Given the description of an element on the screen output the (x, y) to click on. 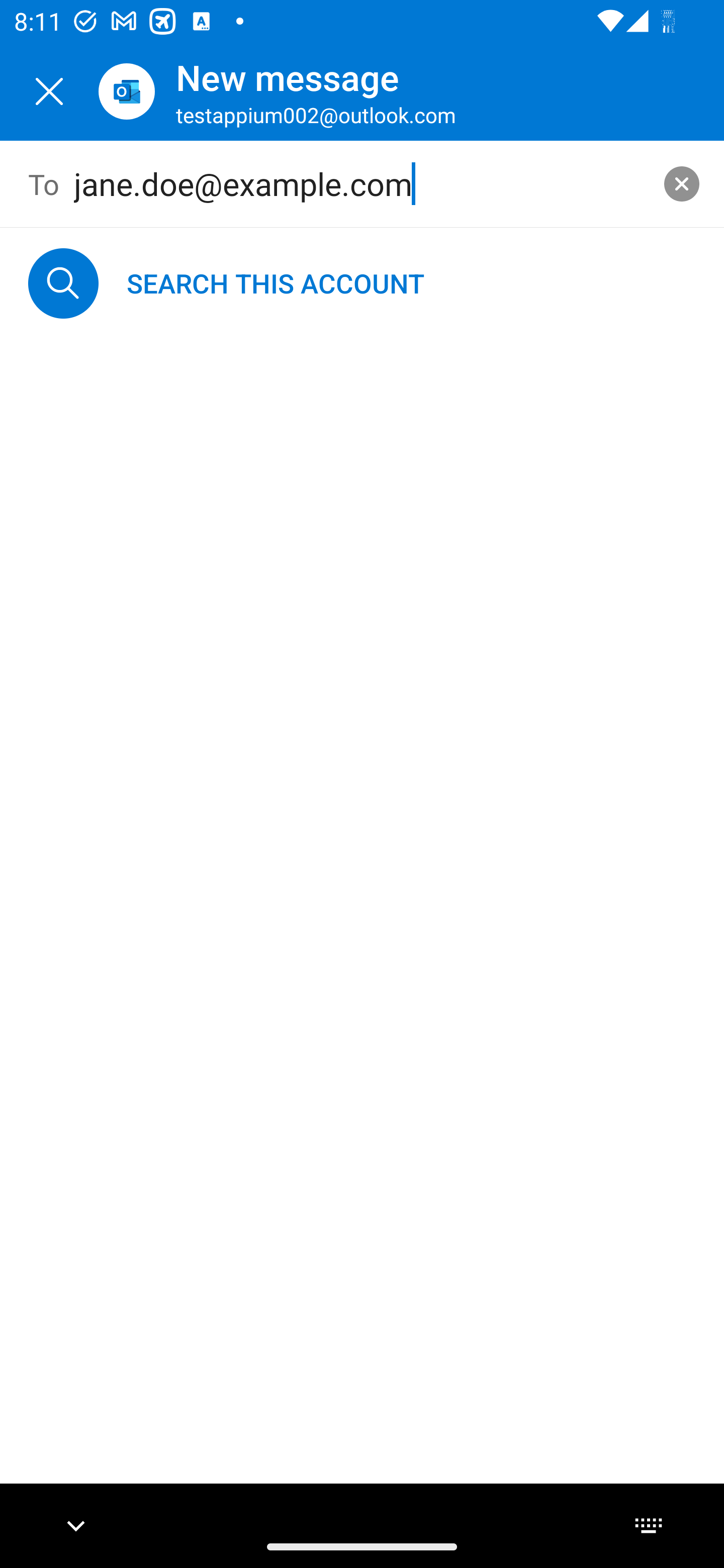
Close (49, 91)
jane.doe@example.com (362, 184)
clear search (681, 183)
